Given the description of an element on the screen output the (x, y) to click on. 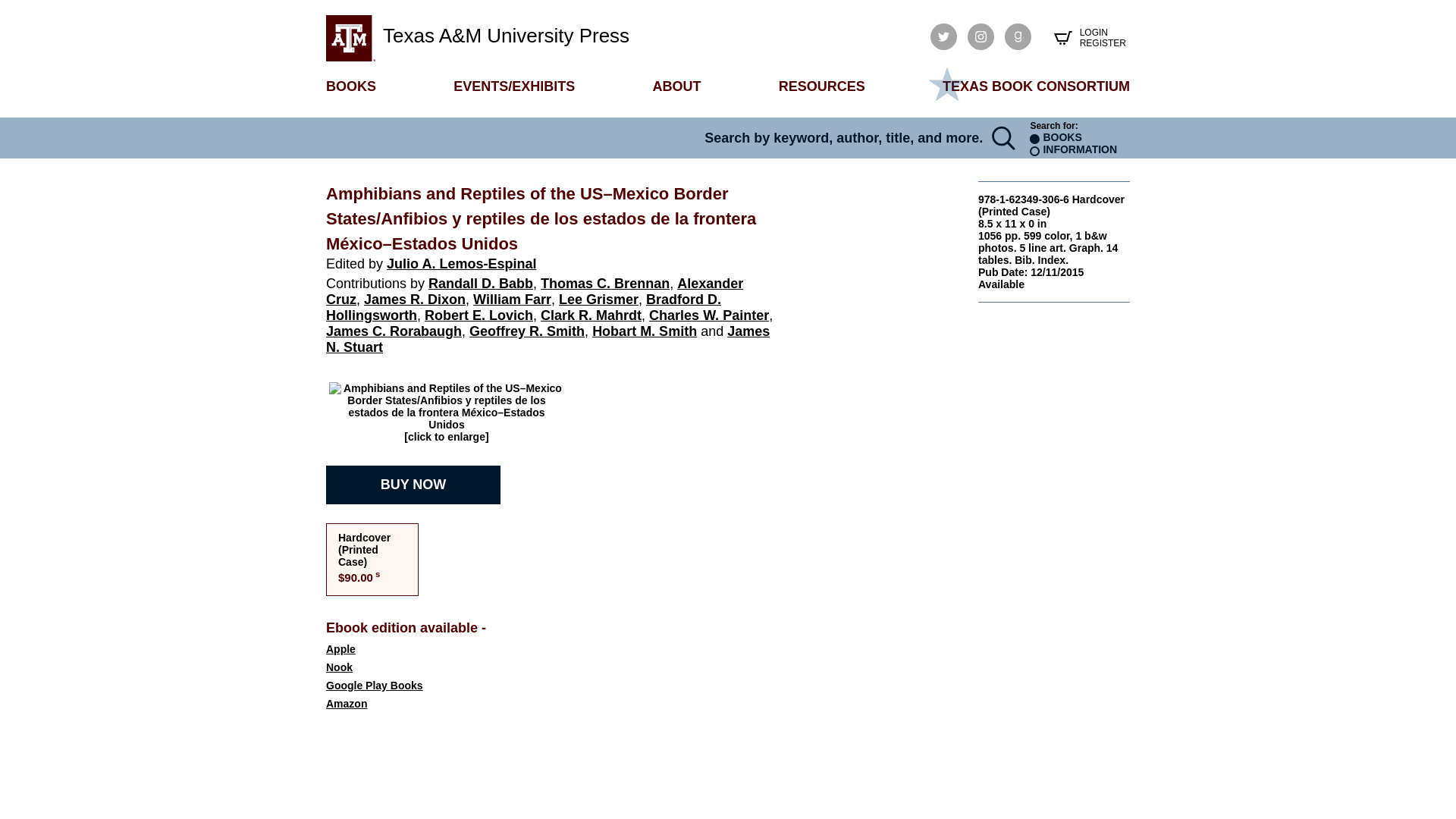
James R. Dixon (414, 299)
ABOUT (676, 86)
RESOURCES (821, 86)
Julio A. Lemos-Espinal (461, 263)
Open your cart page (1062, 37)
Lee Grismer (599, 299)
Alexander Cruz (534, 291)
TEXAS BOOK CONSORTIUM (1035, 86)
Open Instagram Link in a new tab (981, 36)
